Given the description of an element on the screen output the (x, y) to click on. 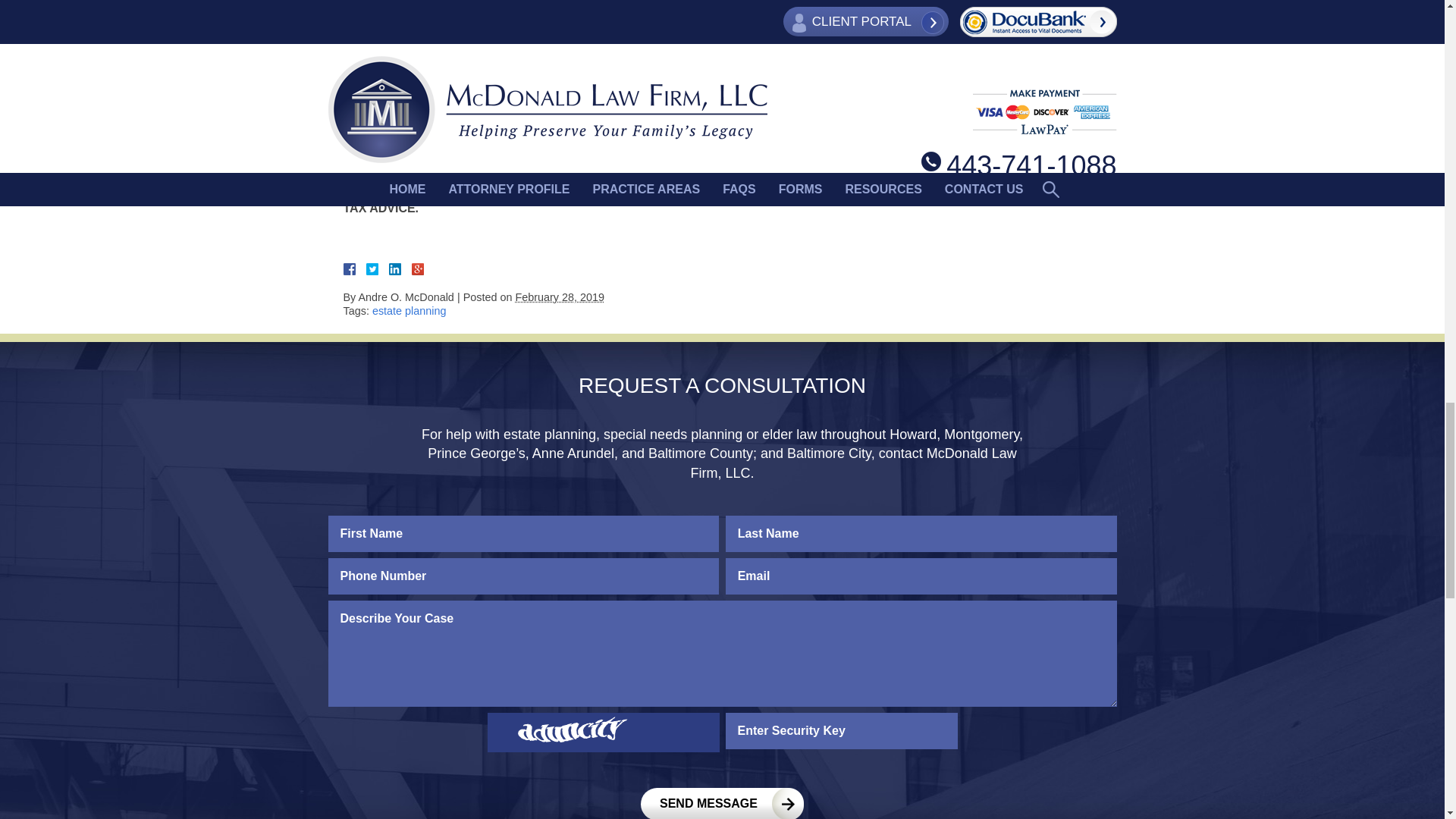
Enter Security Key (840, 730)
NAELA Member (974, 29)
Send Message (721, 803)
Last Name (920, 533)
Phone Number (523, 575)
Email (920, 575)
First Name (523, 533)
2019-02-28T13:08:58-0800 (559, 297)
